Given the description of an element on the screen output the (x, y) to click on. 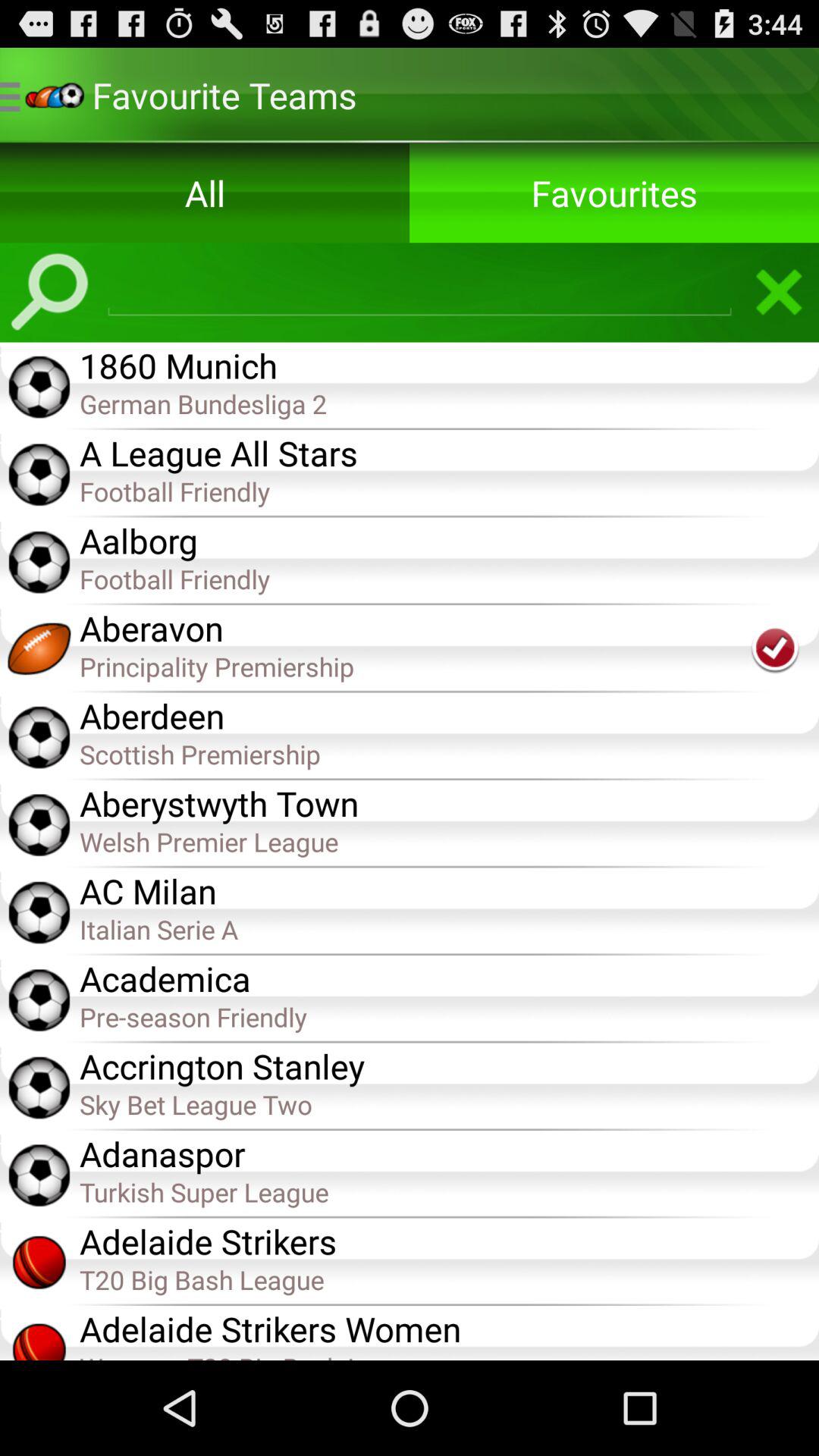
launch ac milan item (449, 889)
